Given the description of an element on the screen output the (x, y) to click on. 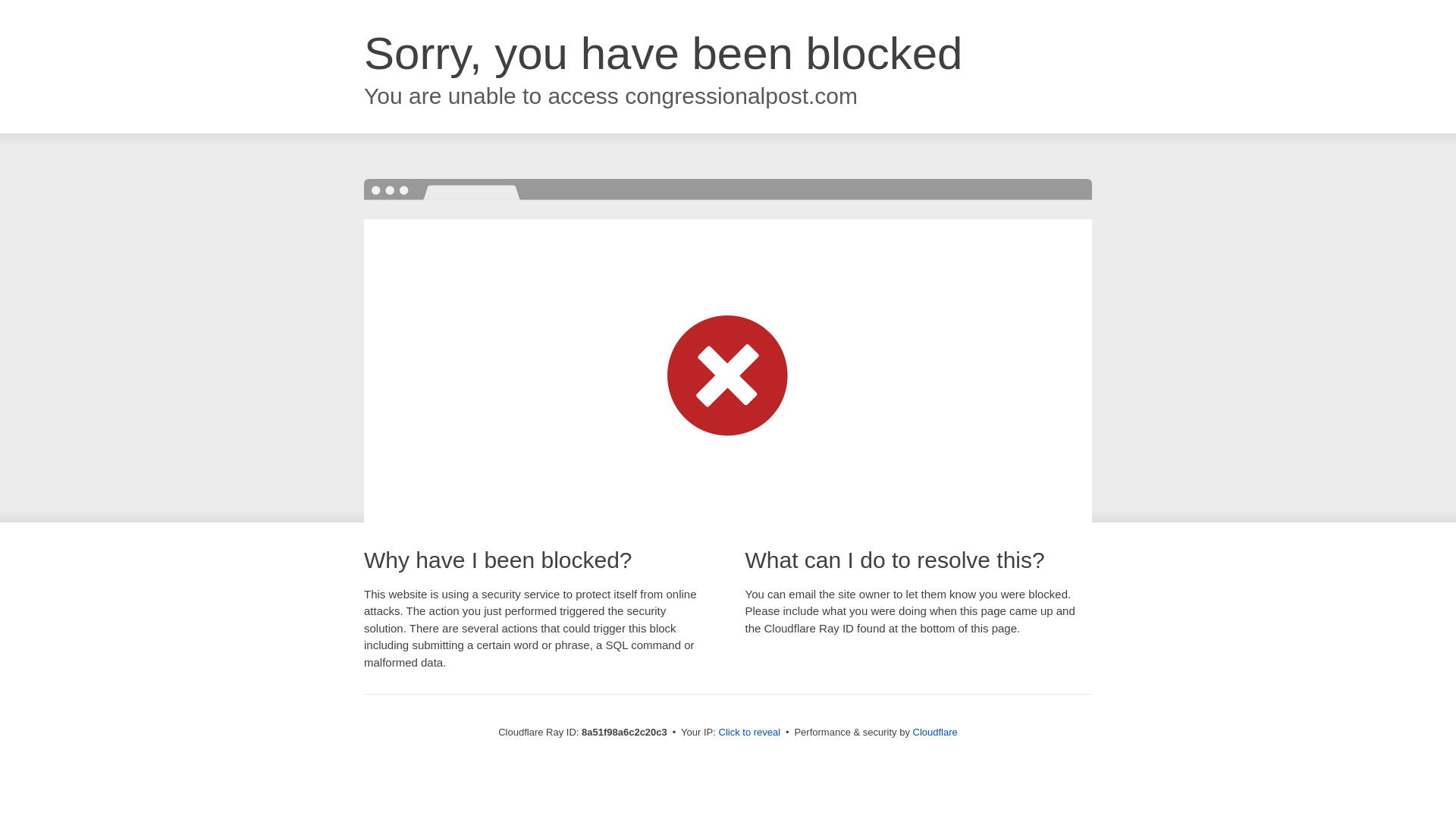
Click to reveal (749, 732)
Cloudflare (935, 731)
